Given the description of an element on the screen output the (x, y) to click on. 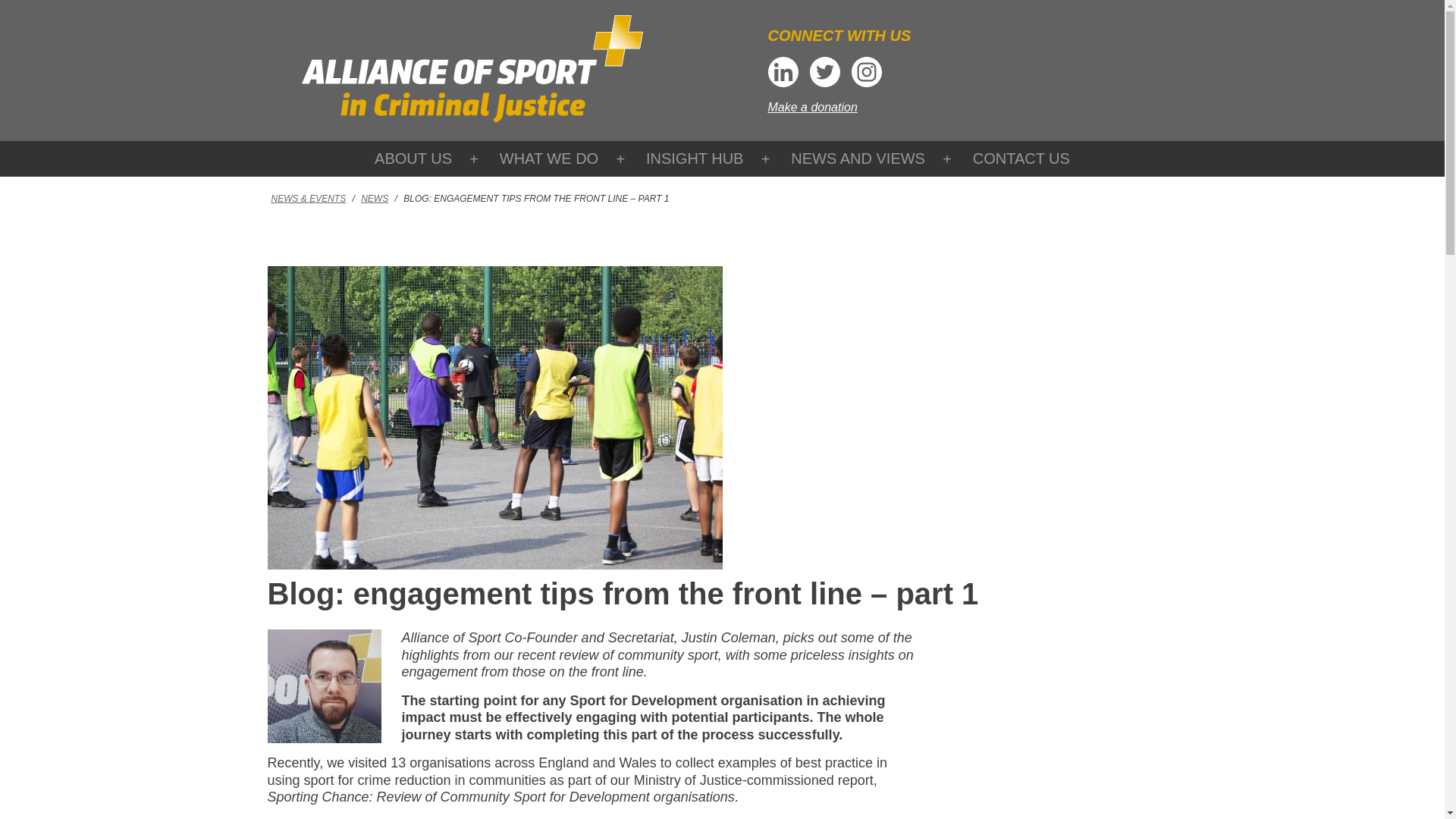
ABOUT US (413, 158)
Make a donation (812, 106)
INSIGHT HUB (695, 158)
NEWS AND VIEWS (857, 158)
NEWS (373, 198)
CONTACT US (1021, 158)
WHAT WE DO (549, 158)
